Given the description of an element on the screen output the (x, y) to click on. 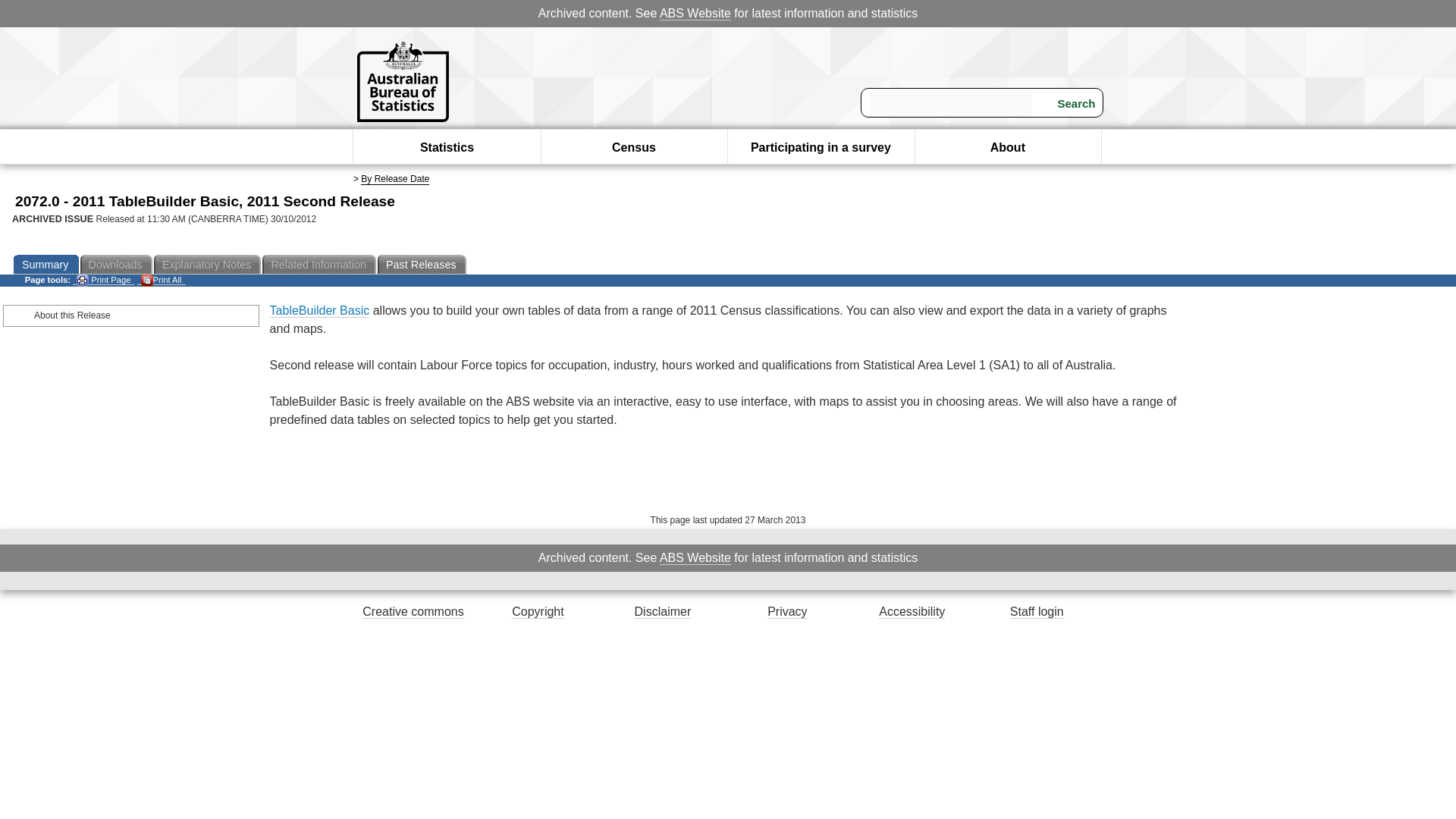
Copyright (537, 612)
Print Page (102, 280)
Accessibility (911, 612)
Search (1066, 102)
ABS Website (694, 13)
Related Information (319, 264)
Past Releases (422, 264)
Census (633, 147)
Explanatory Notes (208, 264)
Privacy (786, 612)
About (1007, 147)
Summary (46, 264)
Creative commons (412, 612)
ABS Website (694, 558)
Disclaimer (662, 612)
